Given the description of an element on the screen output the (x, y) to click on. 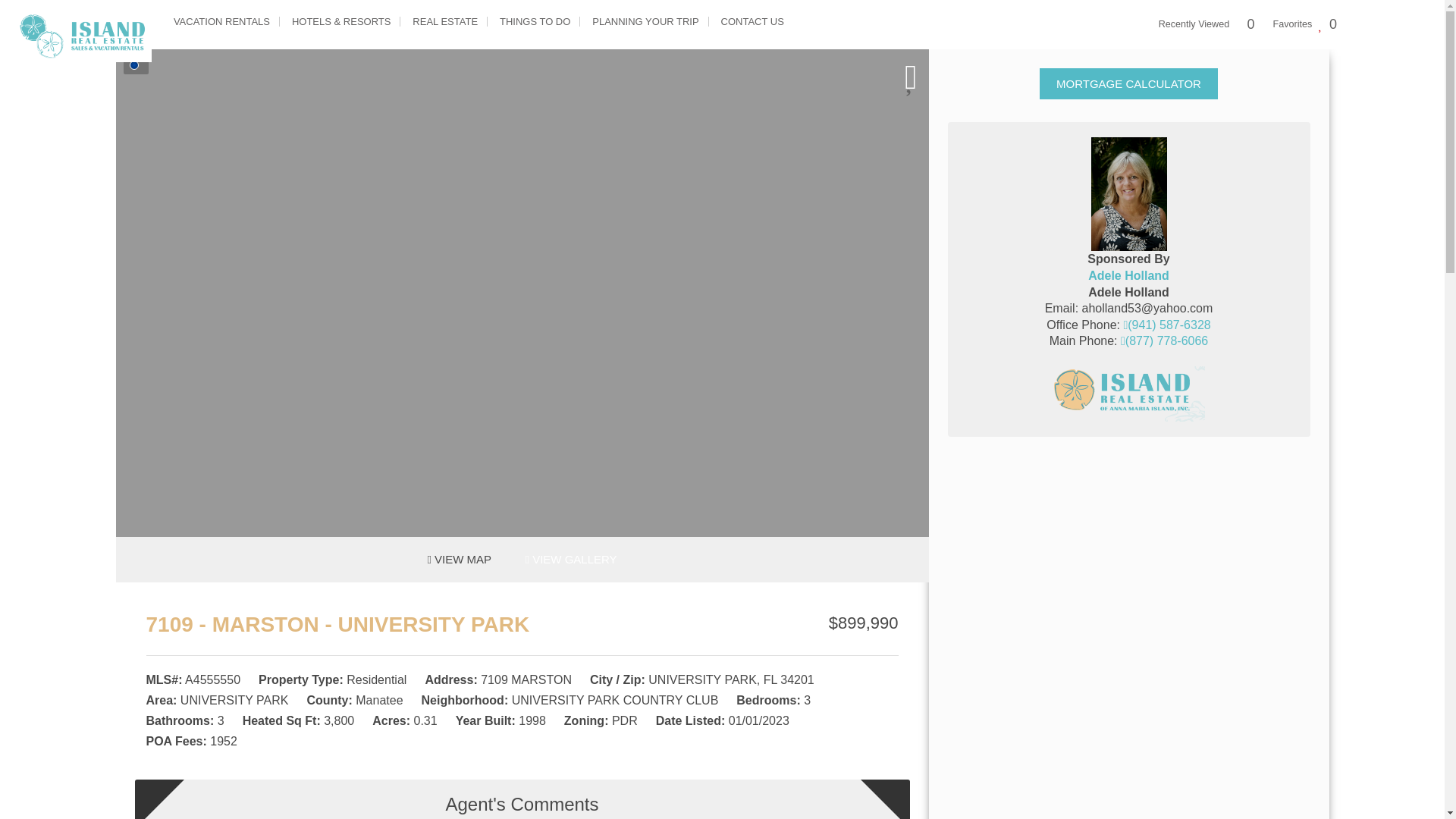
Recently Viewed 0 (1206, 24)
CONTACT US (752, 21)
PLANNING YOUR TRIP (645, 21)
REAL ESTATE (445, 21)
VACATION RENTALS (221, 21)
THINGS TO DO (534, 21)
Your Favorited Properties (1305, 23)
Properties you have Recently Viewed (1206, 23)
